Given the description of an element on the screen output the (x, y) to click on. 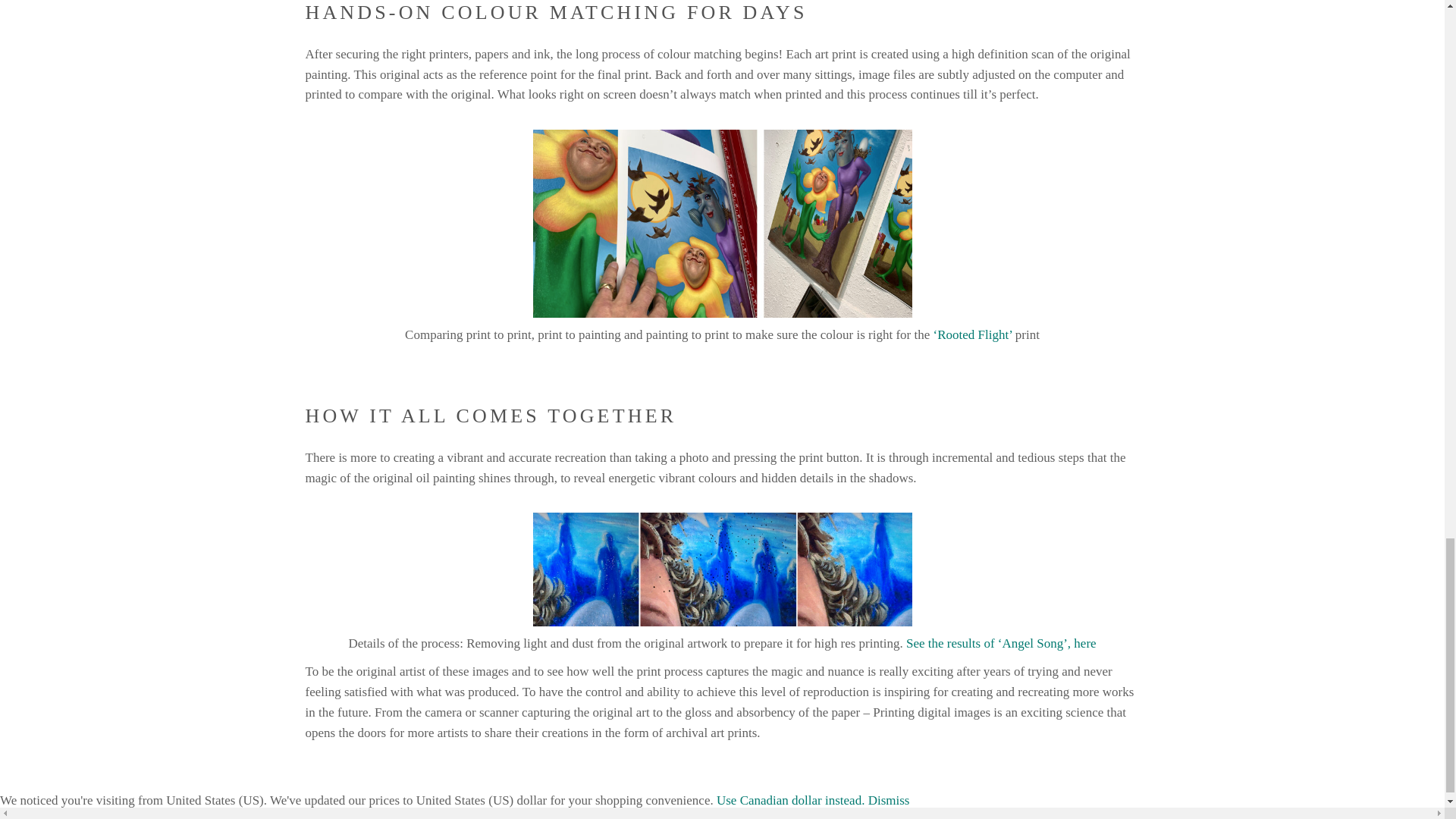
Michael-Abraham-prints-cleaning-digital-file-angel-song (721, 569)
Michael-abraham-prints-color-matching-rooted-flight-flower (721, 223)
